Given the description of an element on the screen output the (x, y) to click on. 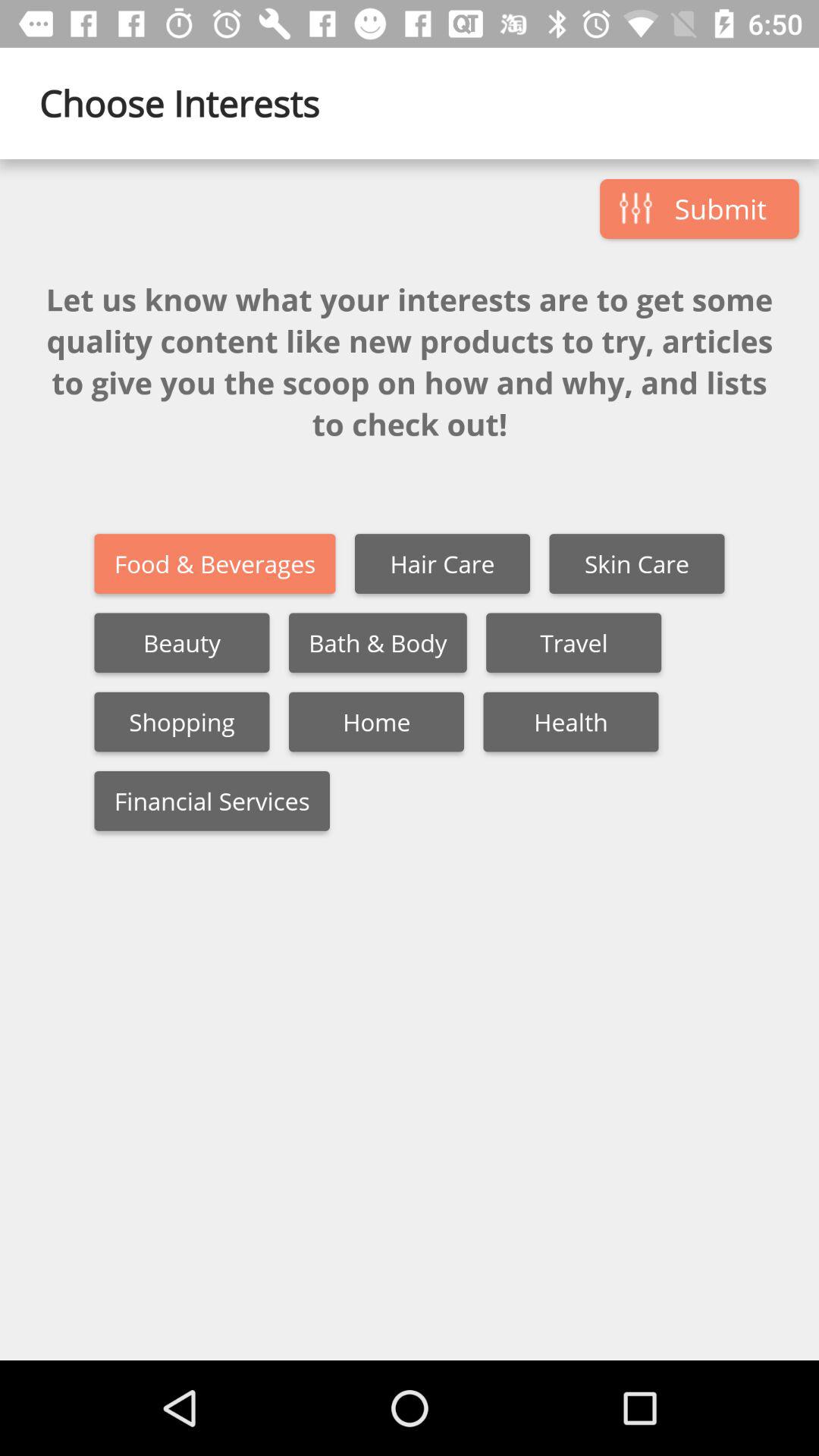
turn off health icon (570, 721)
